Given the description of an element on the screen output the (x, y) to click on. 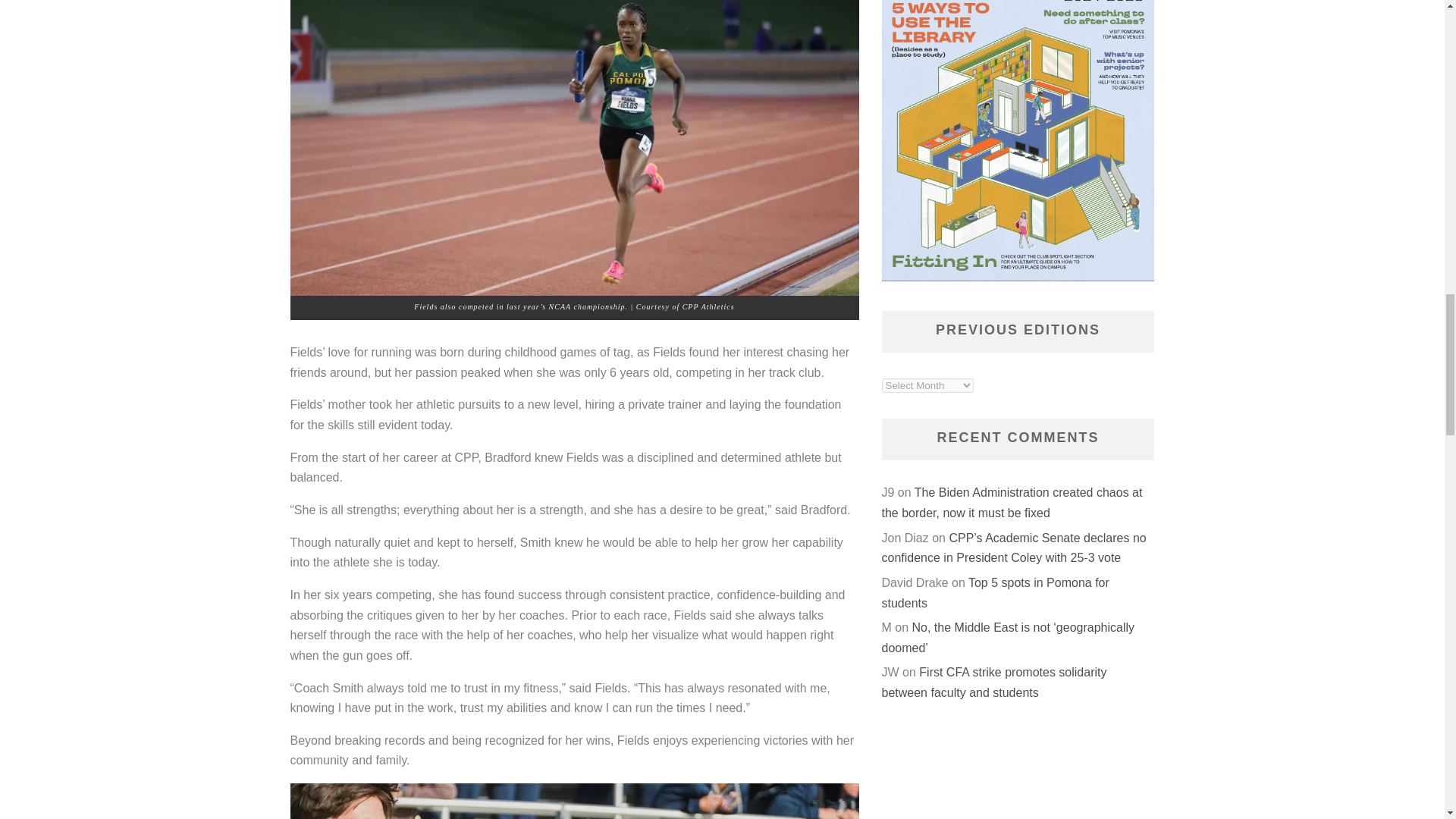
2022 Bronco Guide Magazine (1017, 140)
